Given the description of an element on the screen output the (x, y) to click on. 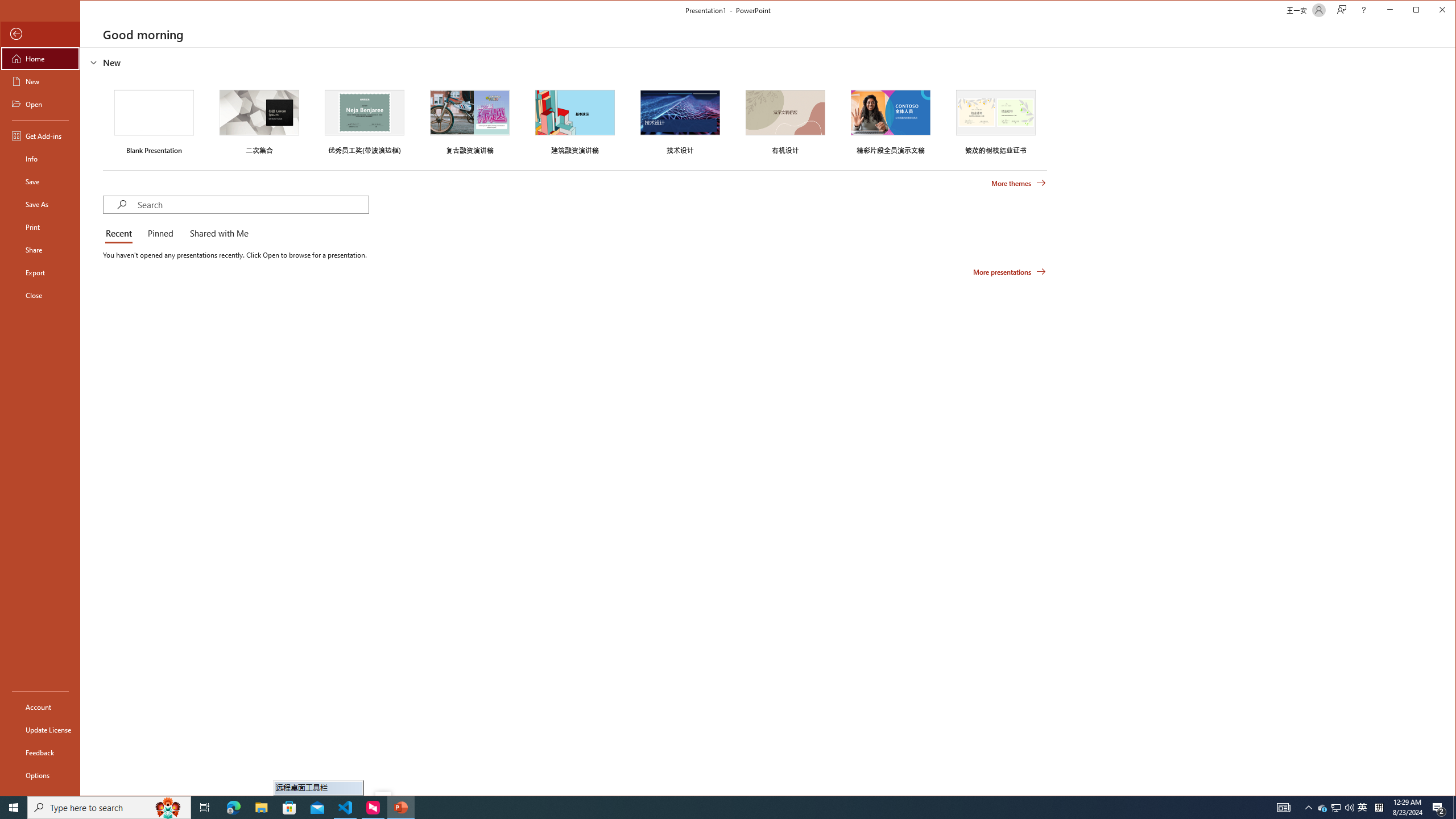
Save As (40, 203)
Get Add-ins (40, 135)
Feedback (40, 752)
